Given the description of an element on the screen output the (x, y) to click on. 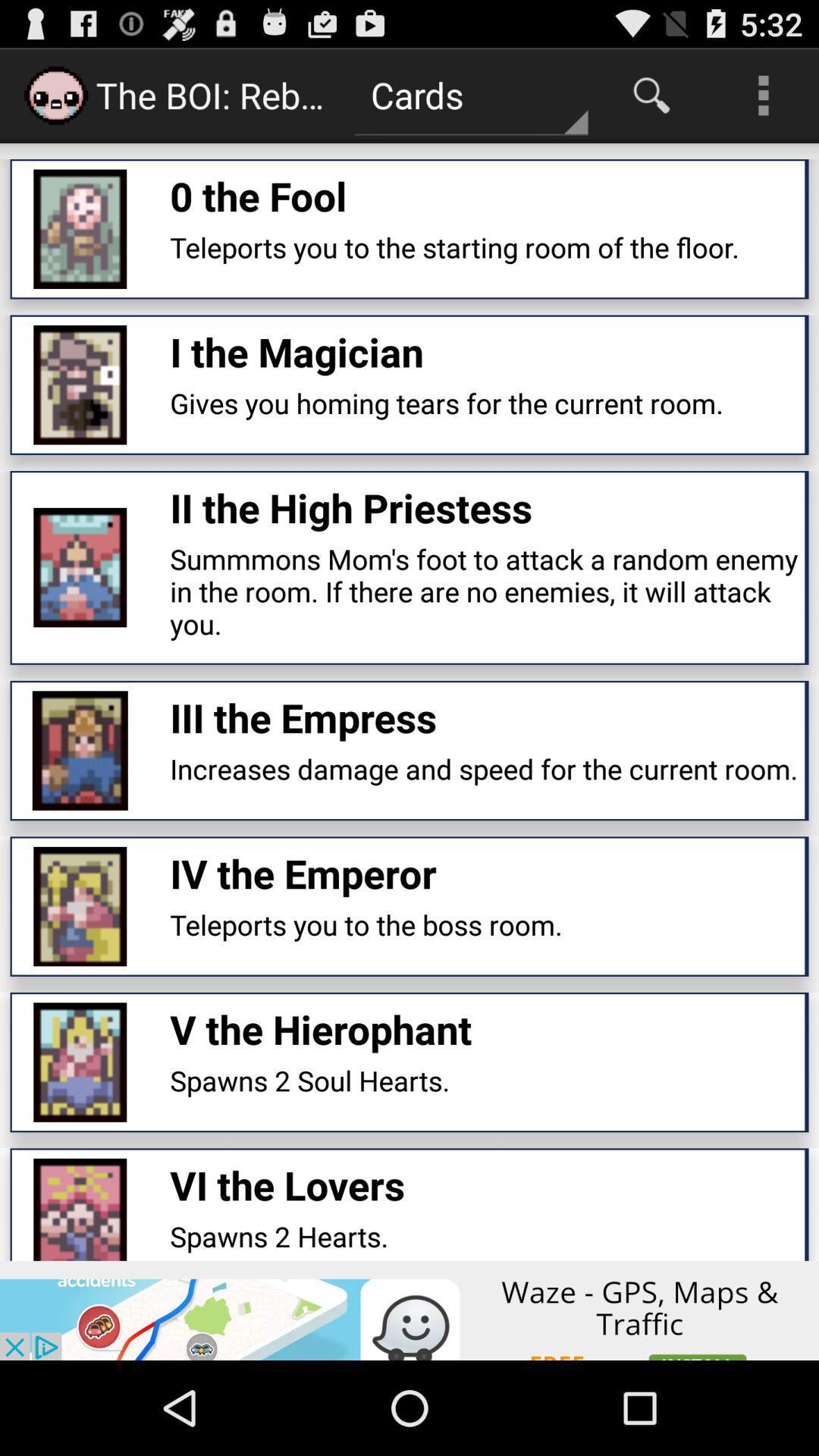
open advertisement (409, 1310)
